Given the description of an element on the screen output the (x, y) to click on. 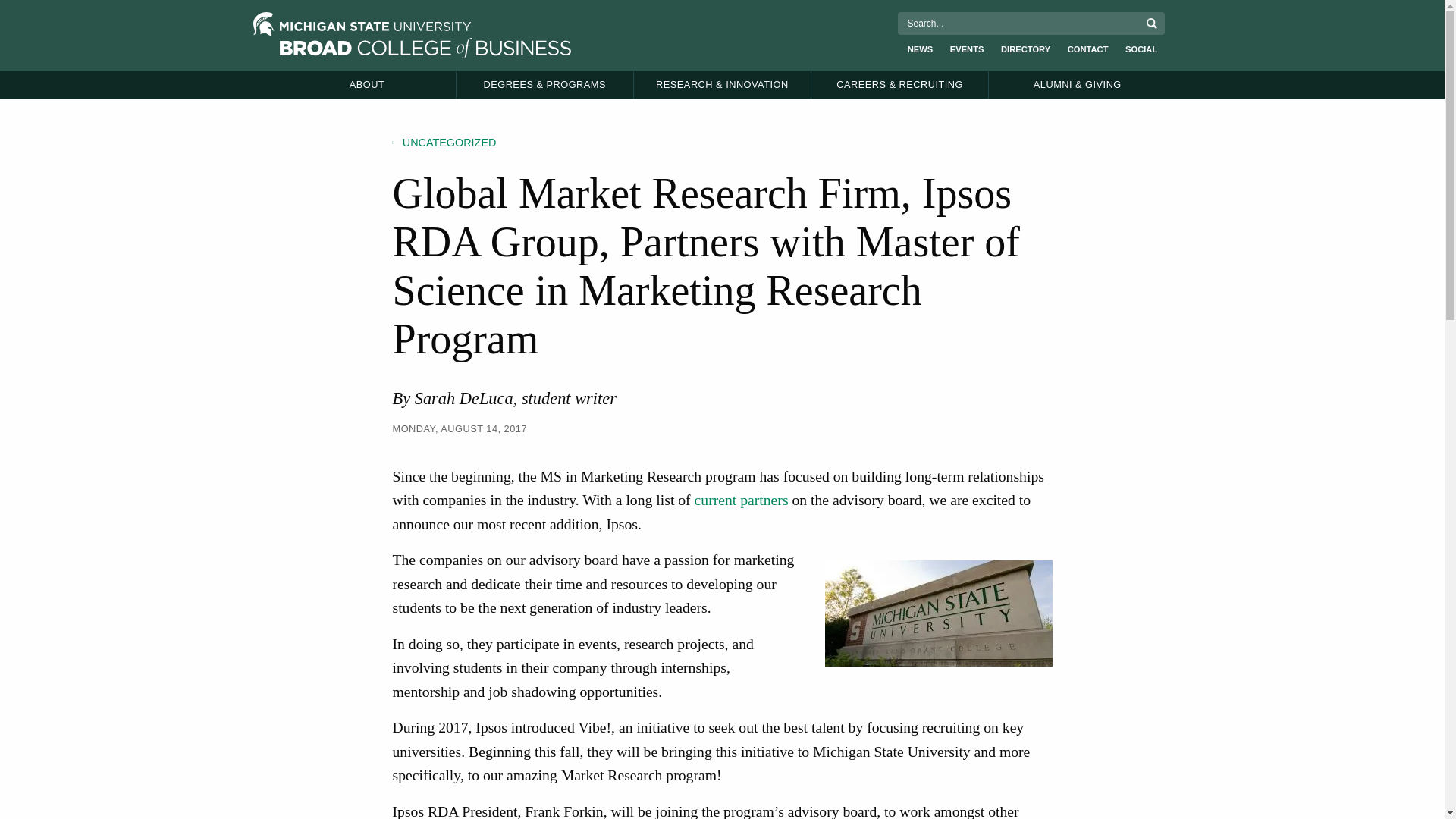
search button (1151, 23)
NEWS (920, 49)
search button (1151, 23)
CONTACT (1086, 49)
DIRECTORY (1025, 49)
ABOUT (367, 84)
EVENTS (967, 49)
SOCIAL (1141, 48)
